Given the description of an element on the screen output the (x, y) to click on. 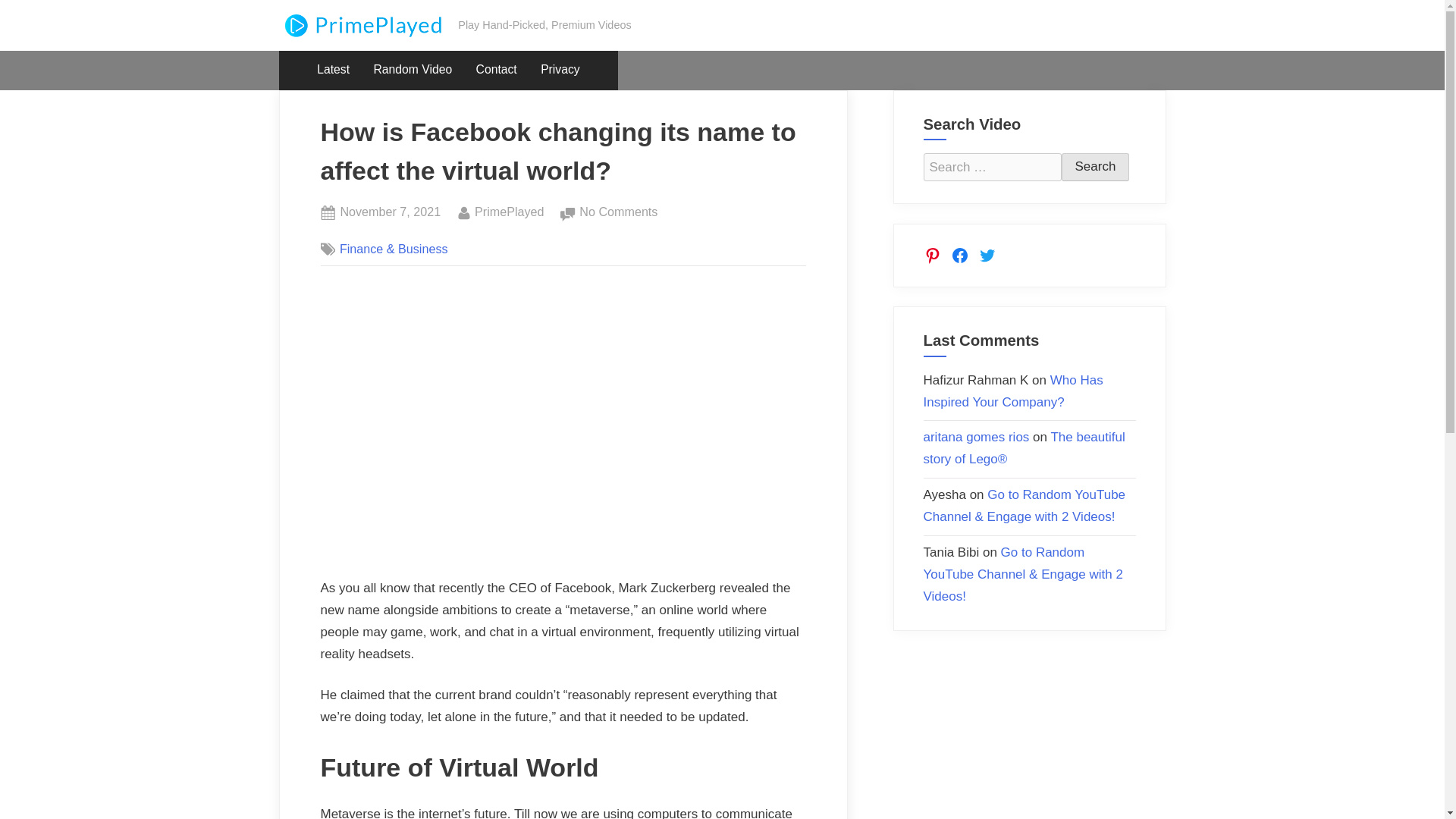
Privacy (560, 69)
Random Video (412, 69)
Contact (496, 69)
Search (509, 211)
Latest (1095, 167)
Search (333, 69)
